Given the description of an element on the screen output the (x, y) to click on. 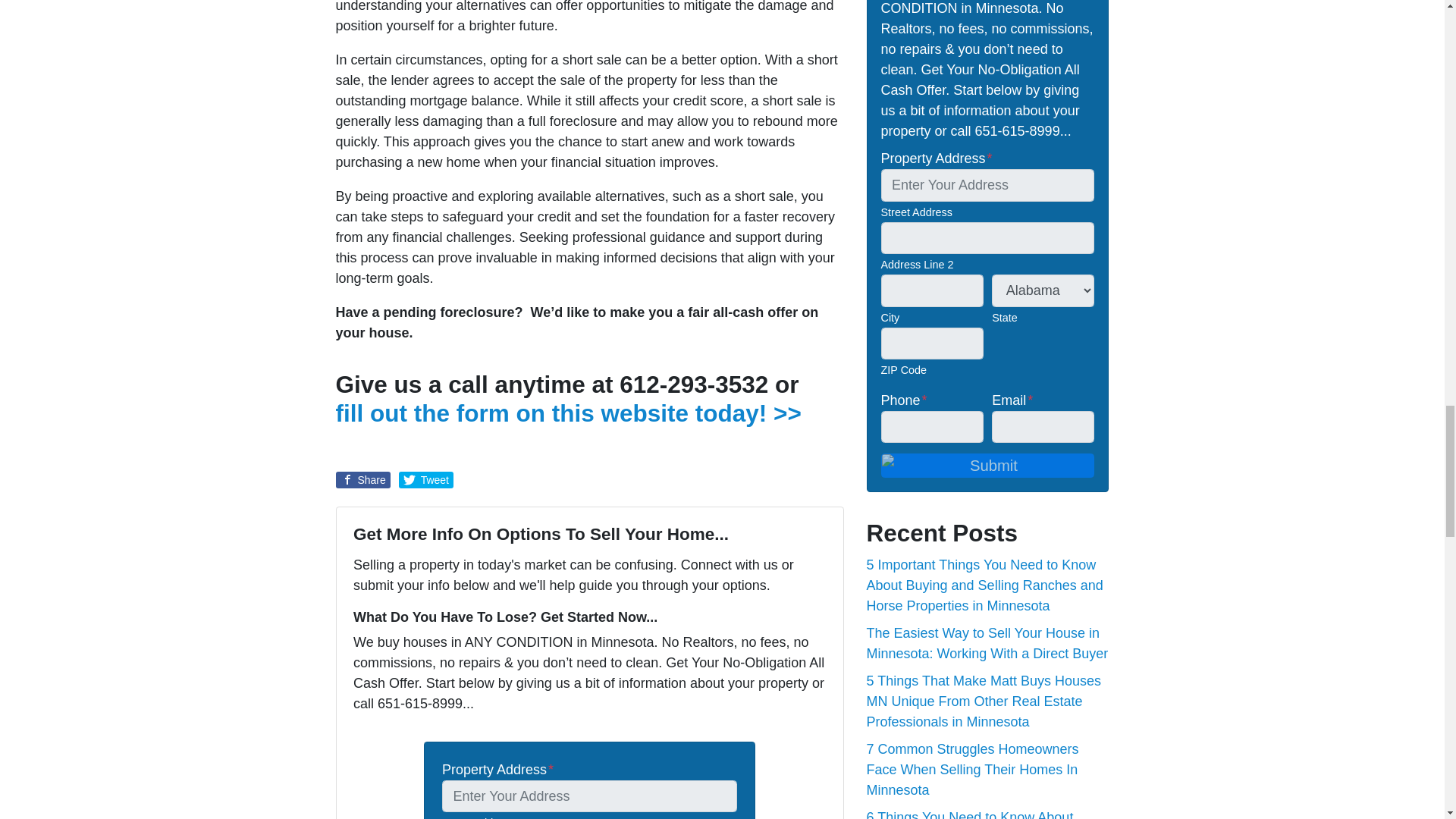
Share on Facebook (362, 479)
Share on Twitter (425, 479)
Tweet (425, 479)
Share (362, 479)
